Given the description of an element on the screen output the (x, y) to click on. 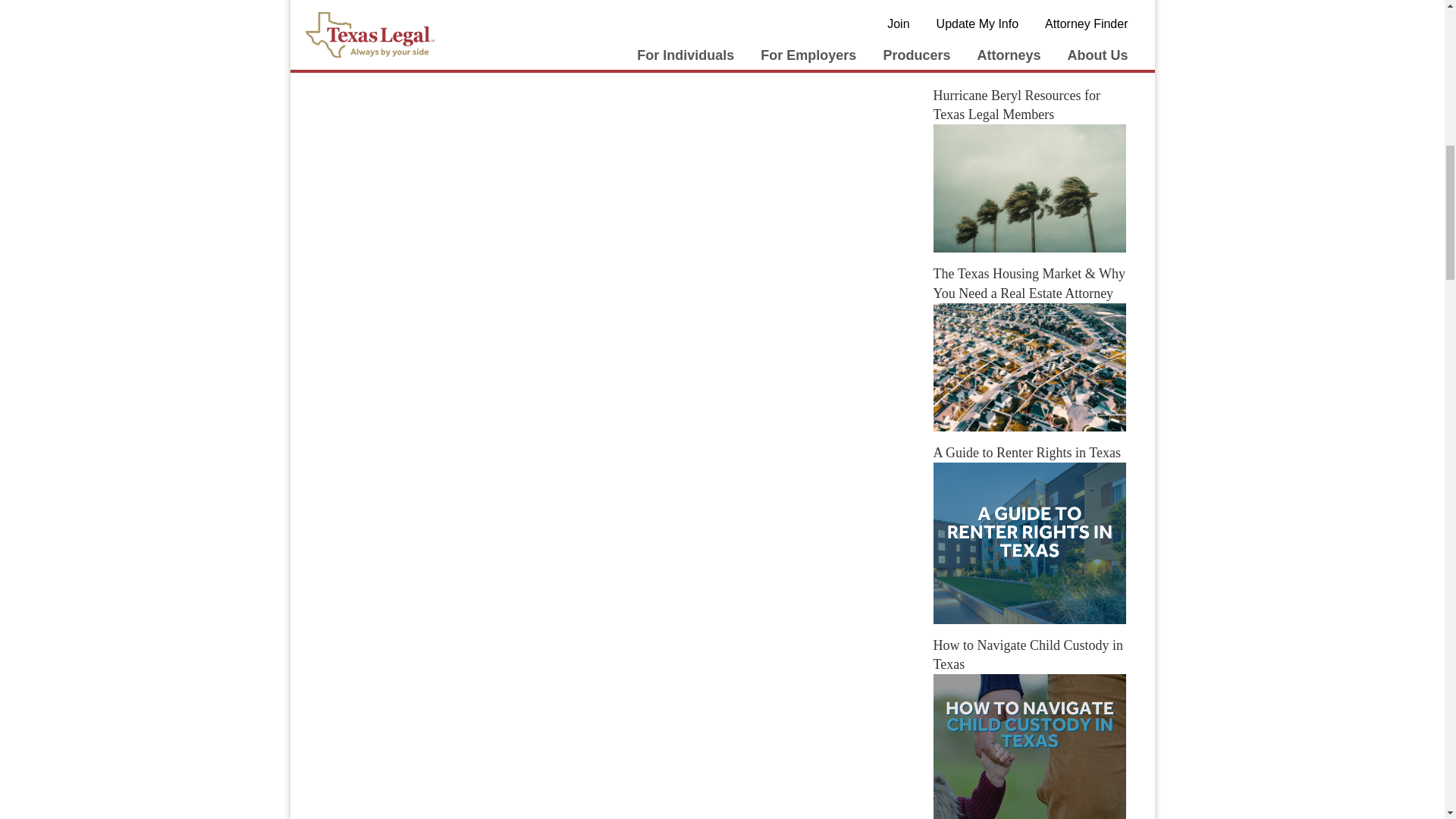
How to Navigate Child Custody in Texas (1029, 746)
Hurricane Beryl Resources for Texas Legal Members (1029, 188)
A Guide to Renter Rights in Texas (1029, 543)
